Given the description of an element on the screen output the (x, y) to click on. 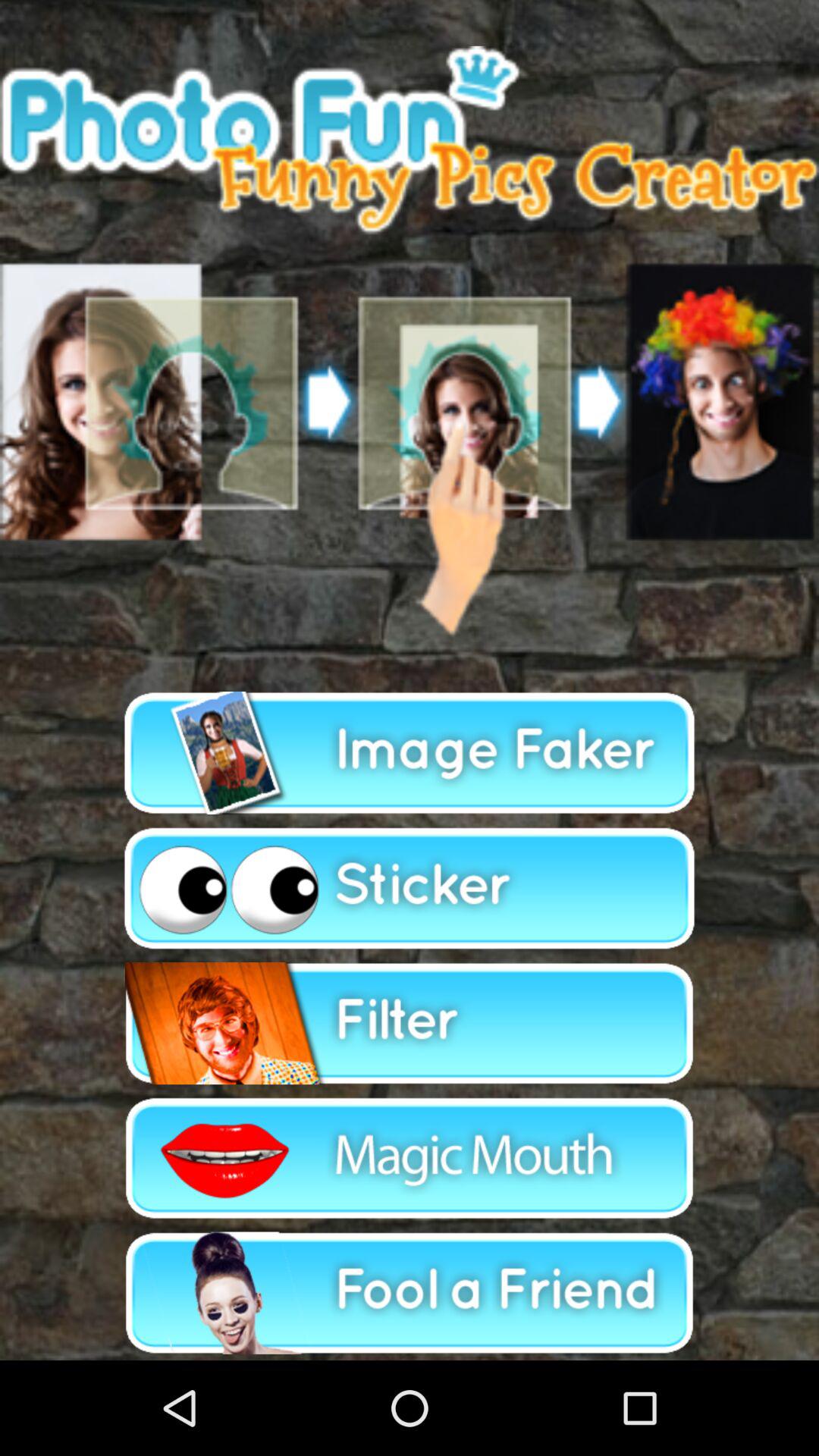
screen select botton (409, 342)
